Given the description of an element on the screen output the (x, y) to click on. 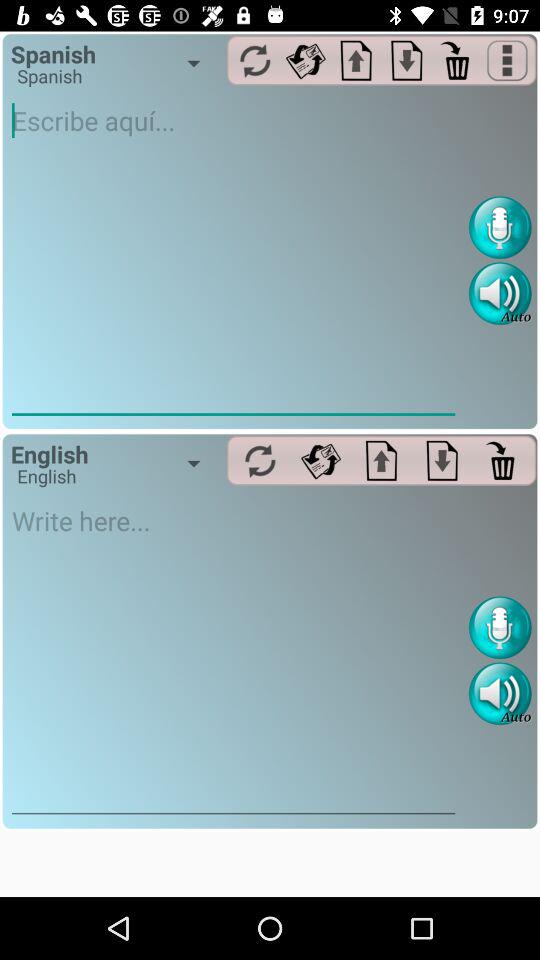
switch notecard placement (406, 60)
